Given the description of an element on the screen output the (x, y) to click on. 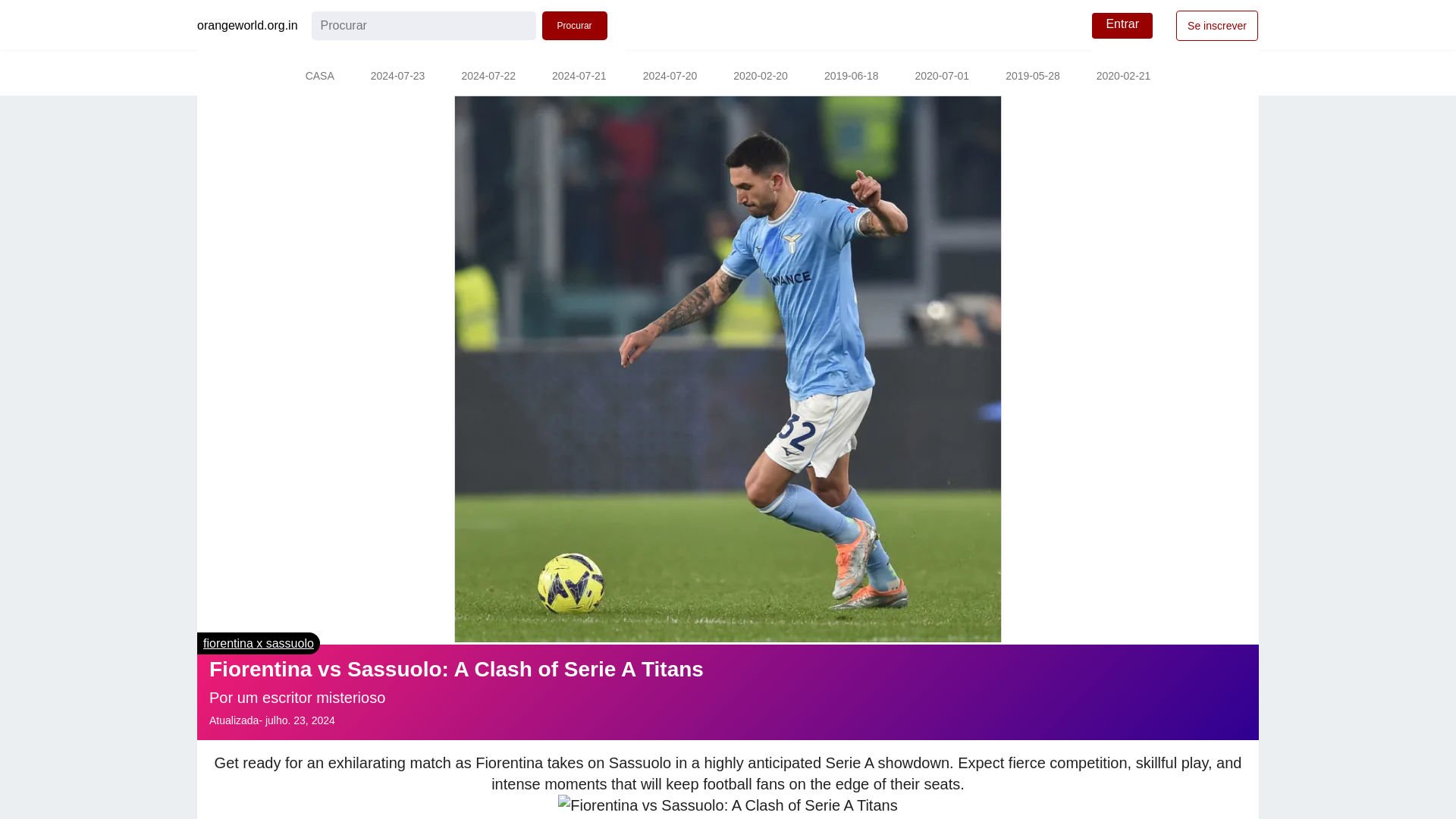
Entrar (1122, 25)
fiorentina x sassuolo (258, 643)
2024-07-23 (398, 76)
2019-06-18 (851, 76)
2019-05-28 (1032, 76)
2024-07-20 (670, 76)
2020-02-20 (760, 76)
orangeworld.org.in (247, 25)
2020-07-01 (941, 76)
2024-07-21 (579, 76)
Procurar (574, 25)
CASA (319, 76)
2024-07-22 (488, 76)
2020-02-21 (1123, 76)
